Given the description of an element on the screen output the (x, y) to click on. 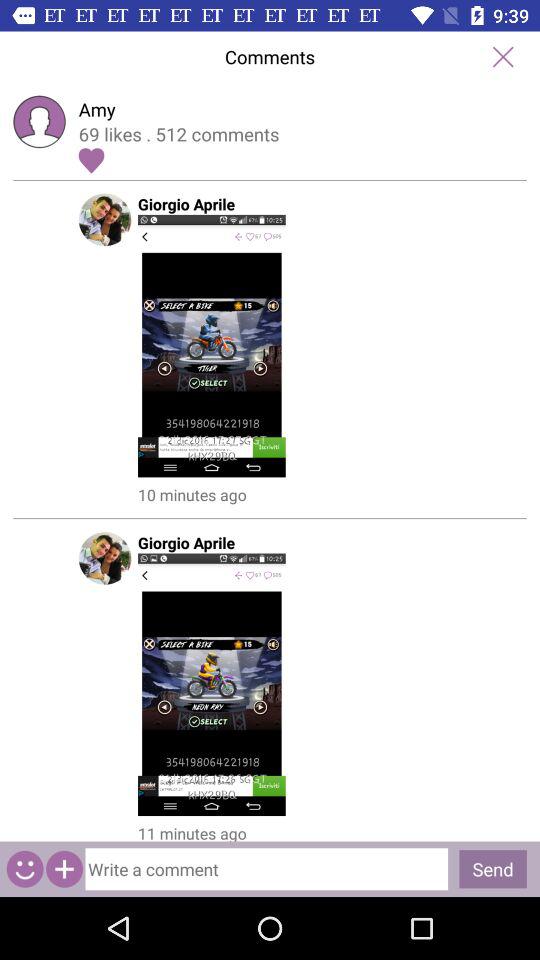
emojis (24, 868)
